Given the description of an element on the screen output the (x, y) to click on. 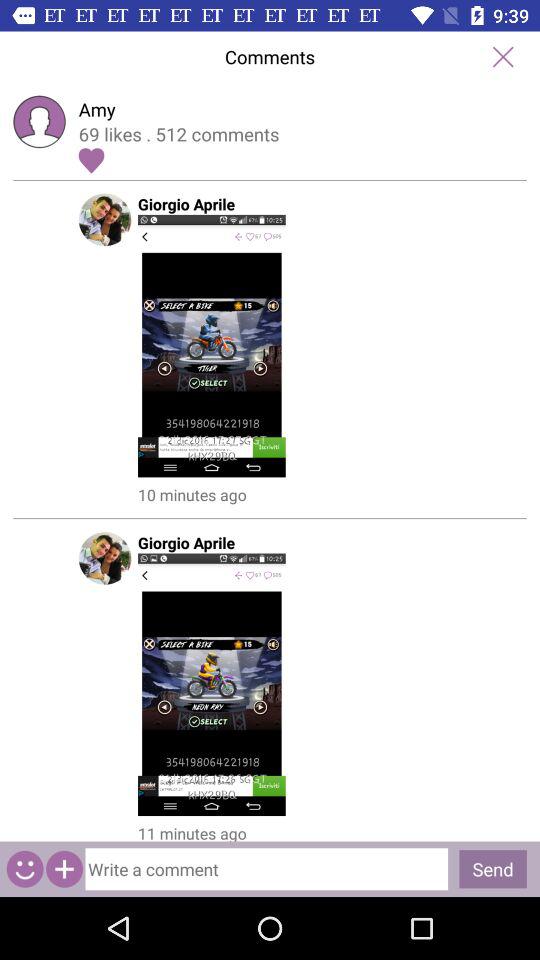
emojis (24, 868)
